Given the description of an element on the screen output the (x, y) to click on. 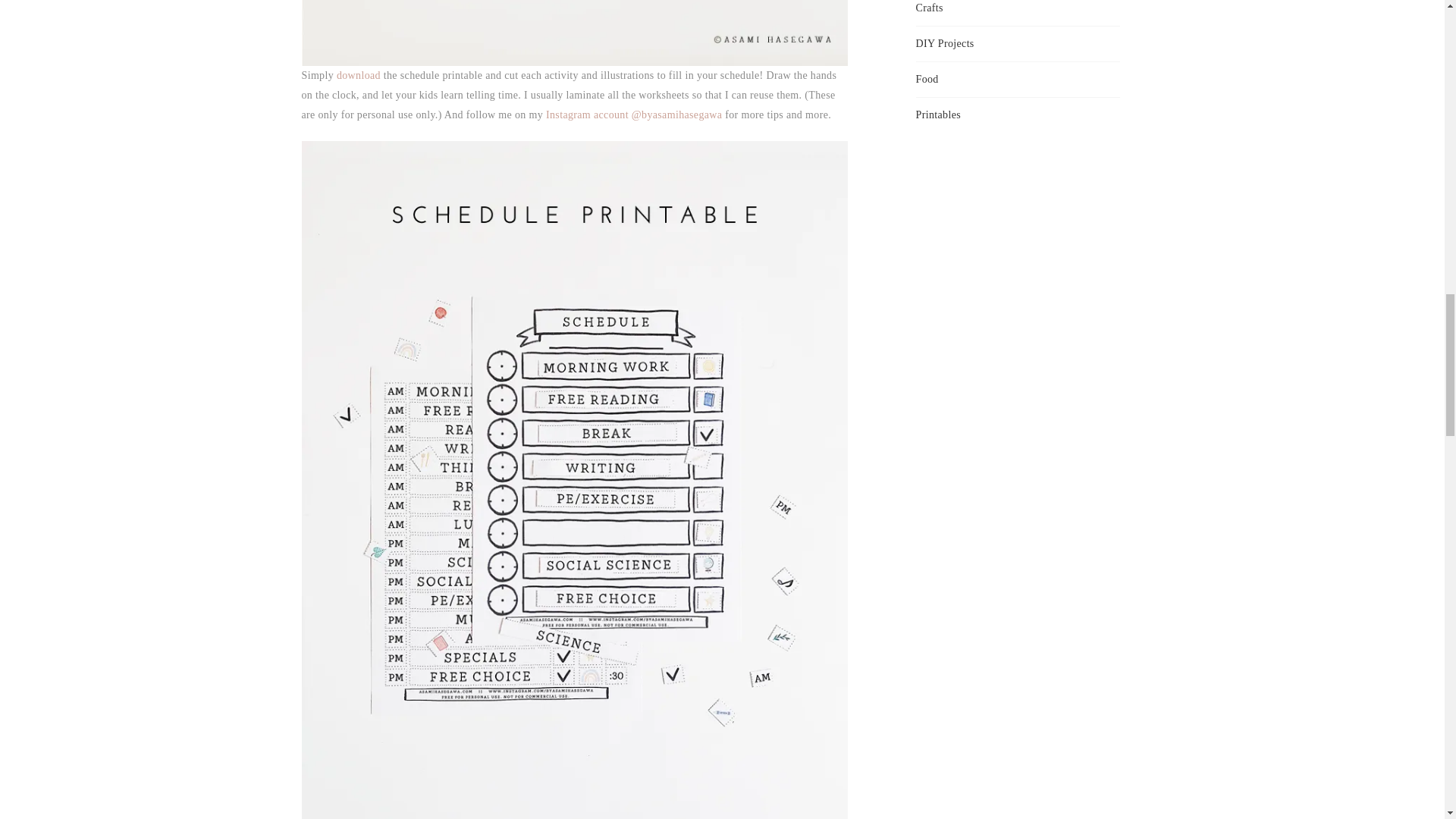
download (358, 75)
